Given the description of an element on the screen output the (x, y) to click on. 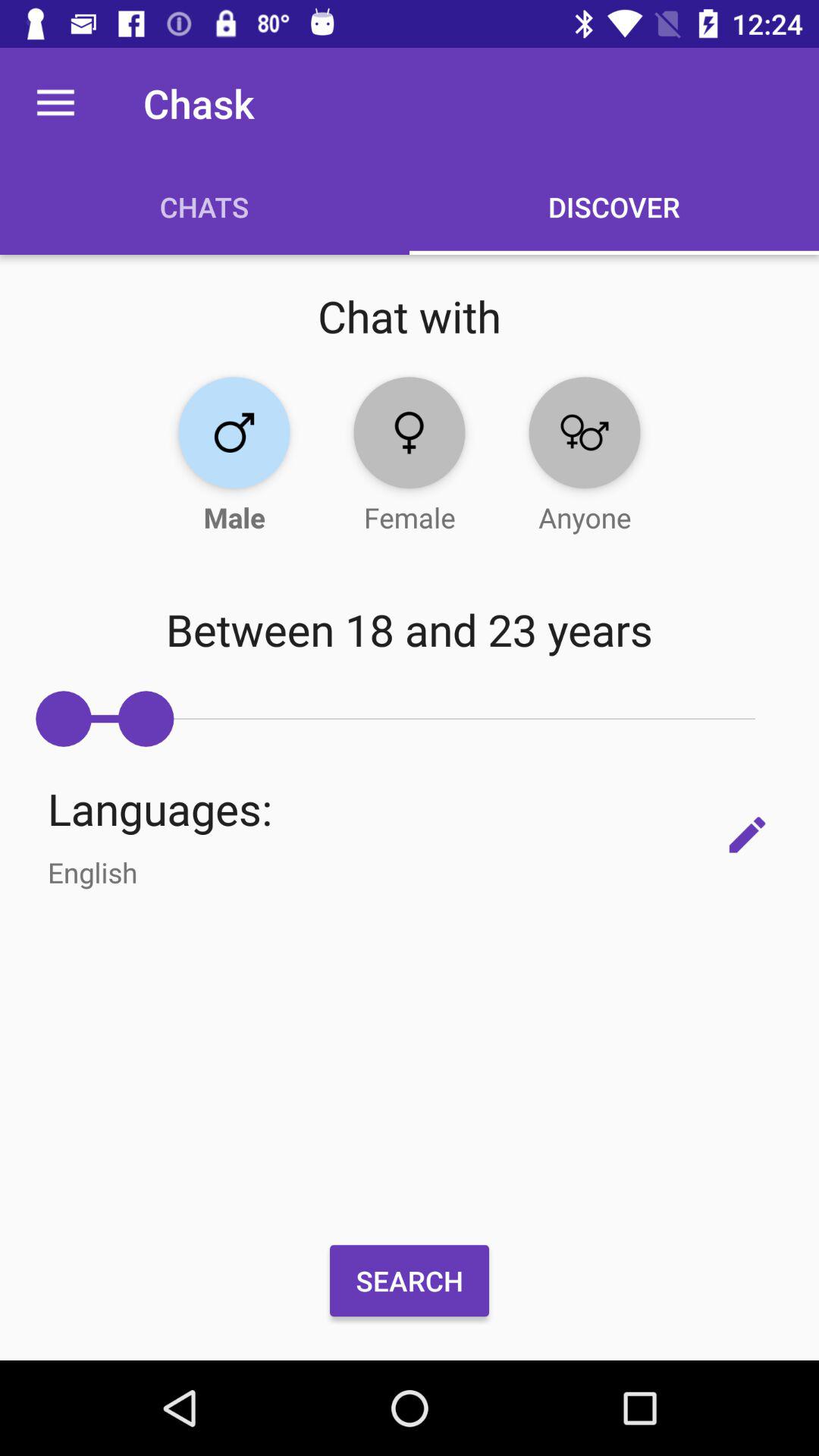
scroll until the search (409, 1280)
